Given the description of an element on the screen output the (x, y) to click on. 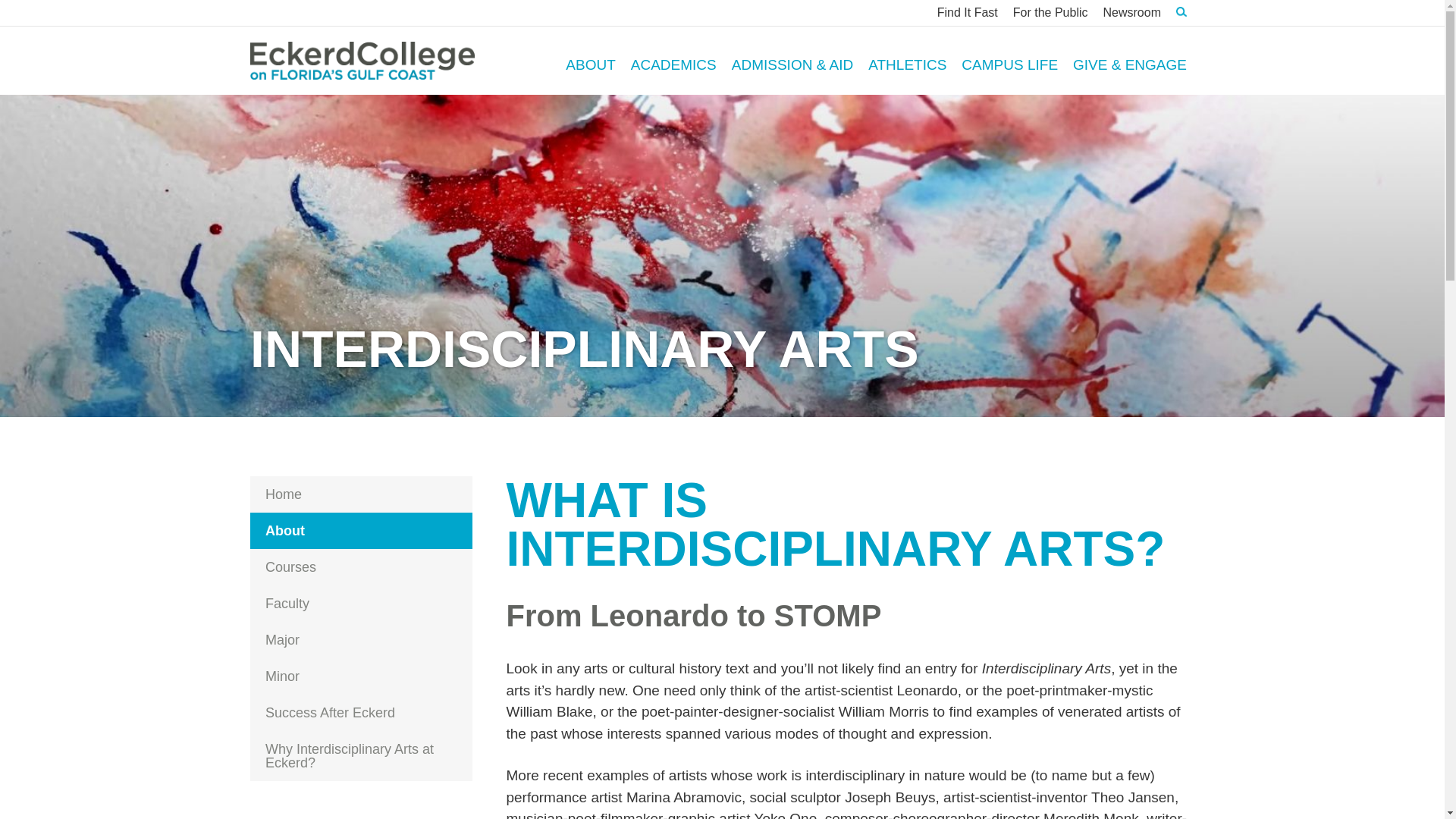
globe (263, 818)
Go (1163, 59)
ACADEMICS (673, 59)
For the Public (1051, 12)
Find It Fast (968, 12)
Newsroom (1132, 12)
ABOUT (590, 59)
